Given the description of an element on the screen output the (x, y) to click on. 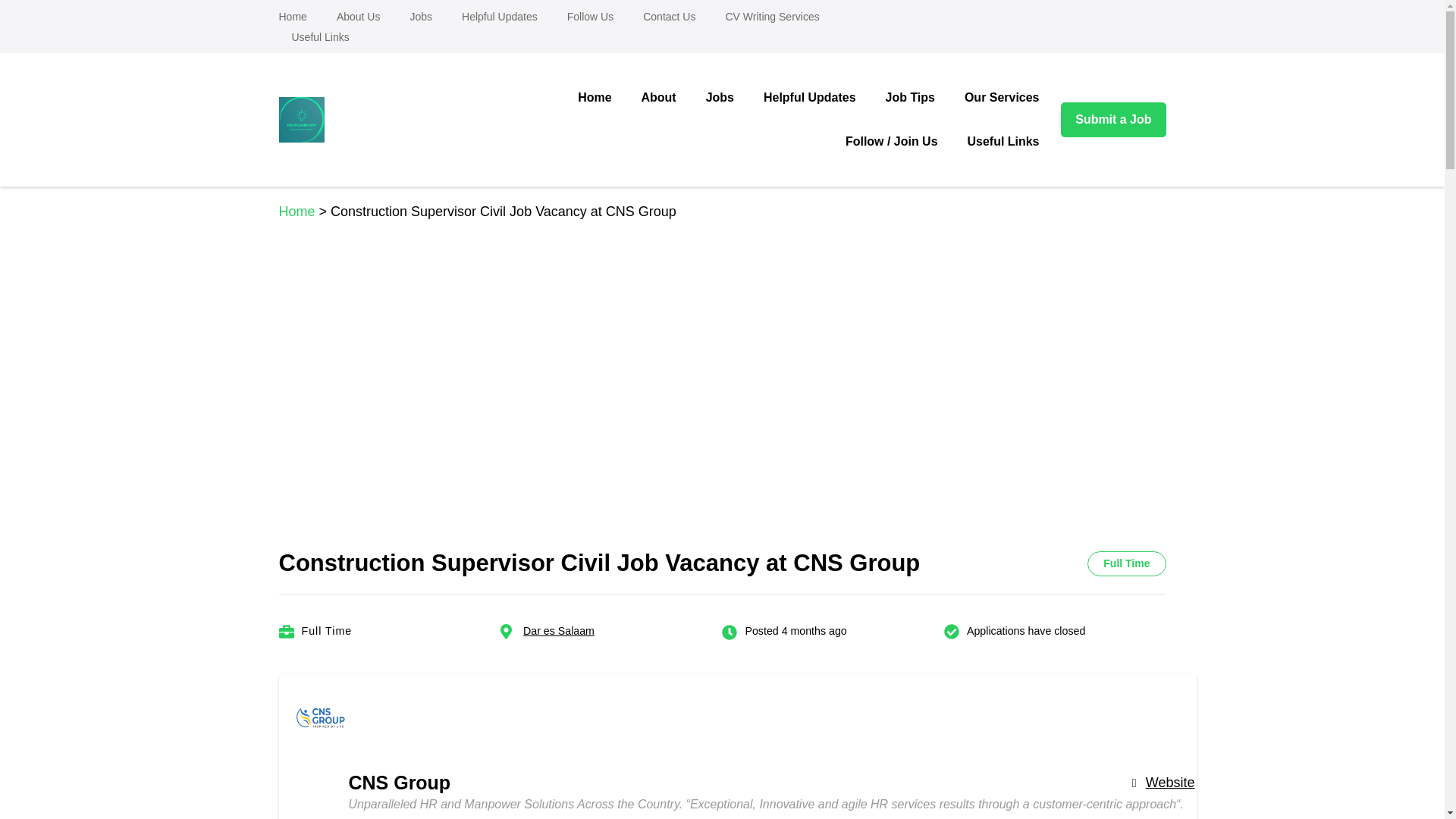
Useful Links (314, 37)
Follow Us (590, 17)
Contact Us (668, 17)
Helpful Jobs Vacancies in Tanzania (517, 132)
Home (299, 17)
About Us (358, 17)
Helpful Updates (499, 17)
CV Writing Services (771, 17)
Jobs (420, 17)
